Given the description of an element on the screen output the (x, y) to click on. 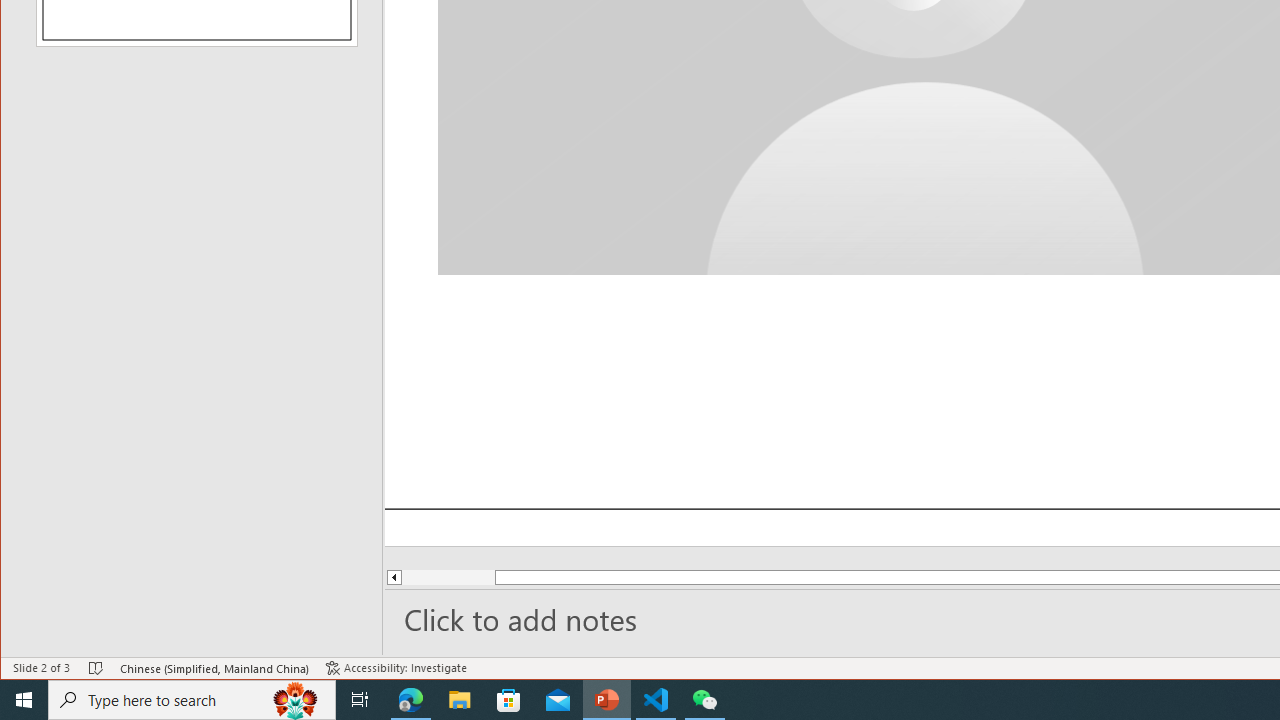
WeChat - 1 running window (704, 699)
